Given the description of an element on the screen output the (x, y) to click on. 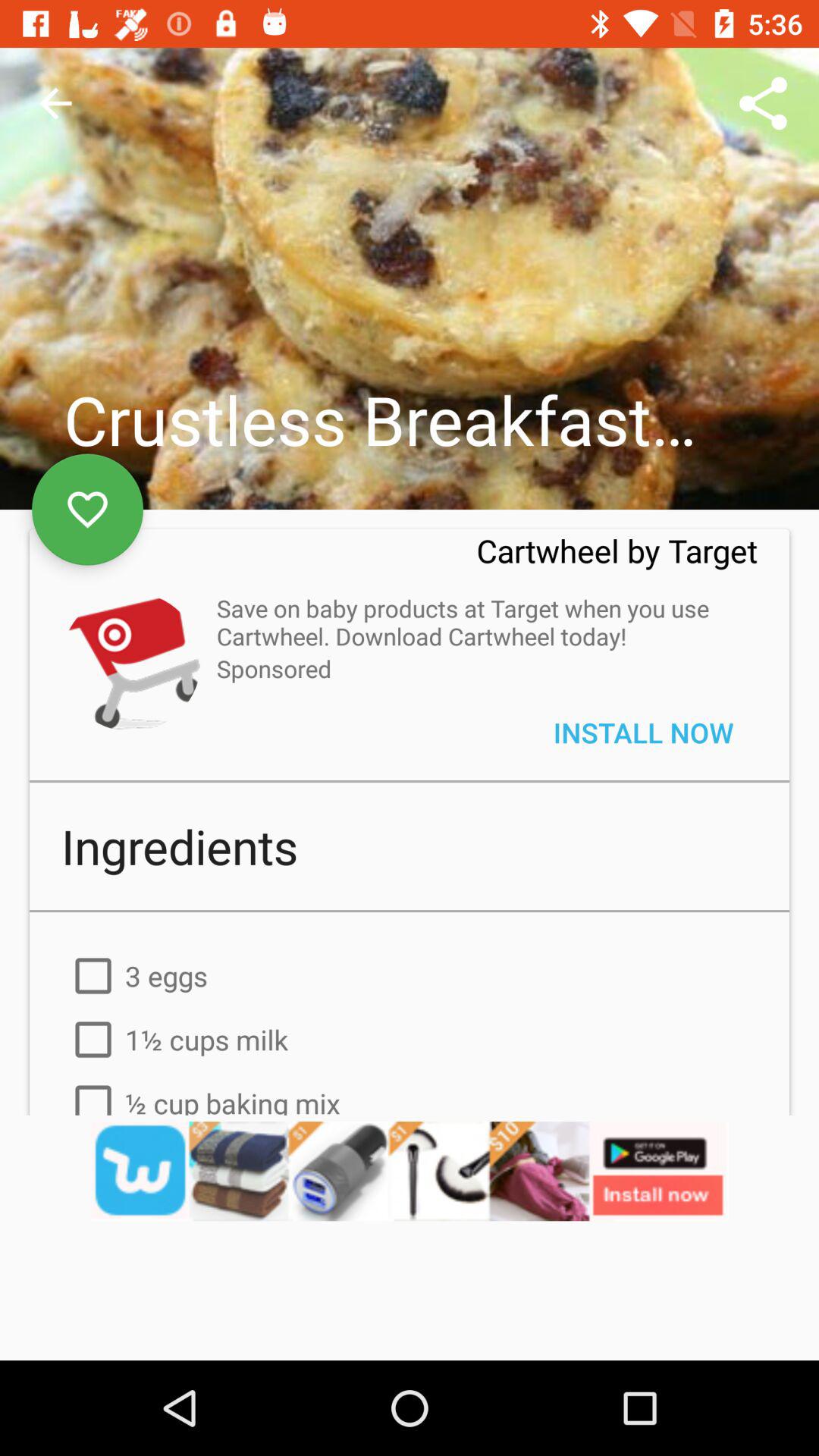
toggle favorite (87, 509)
